Given the description of an element on the screen output the (x, y) to click on. 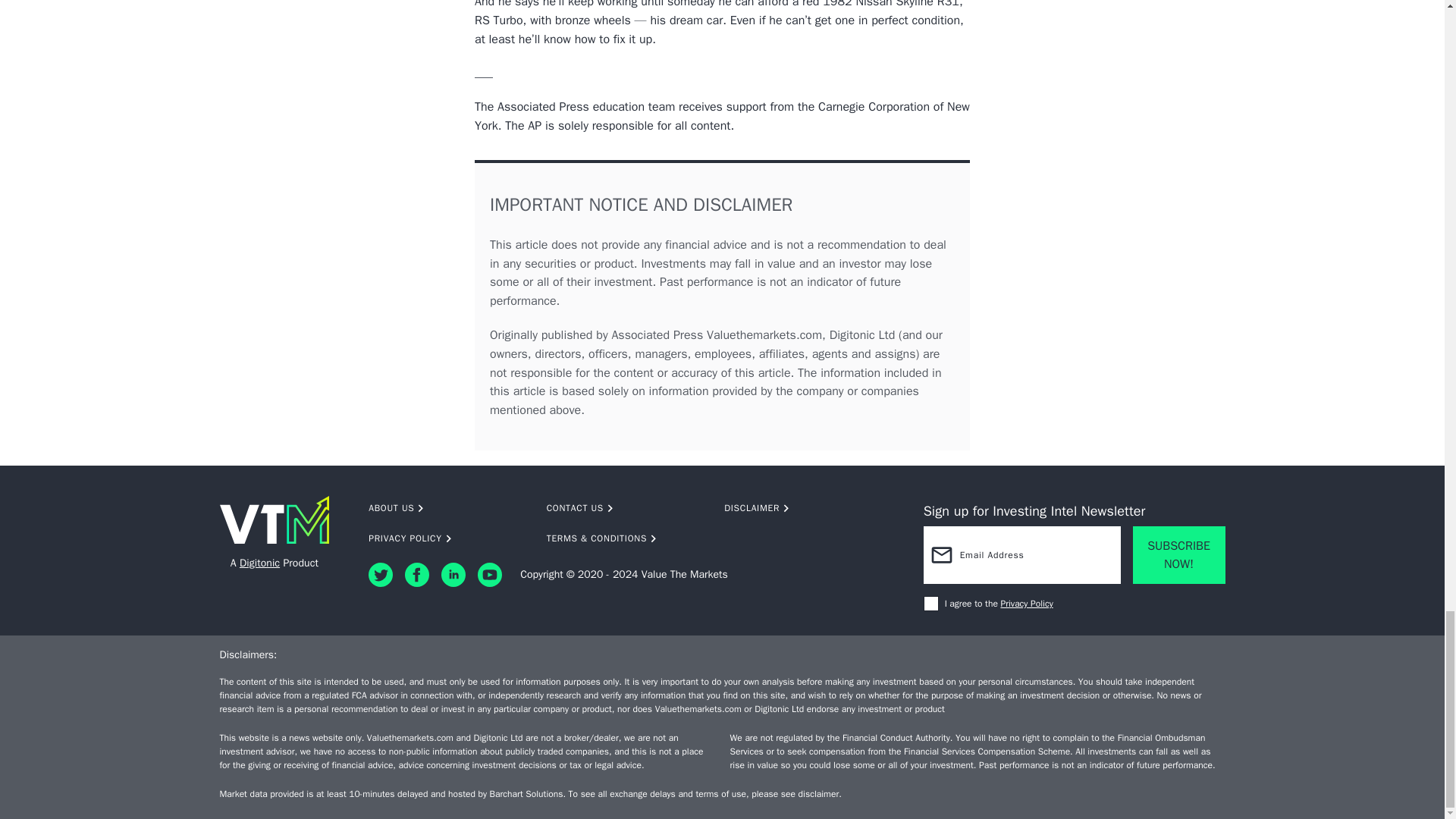
Yes (931, 603)
